Given the description of an element on the screen output the (x, y) to click on. 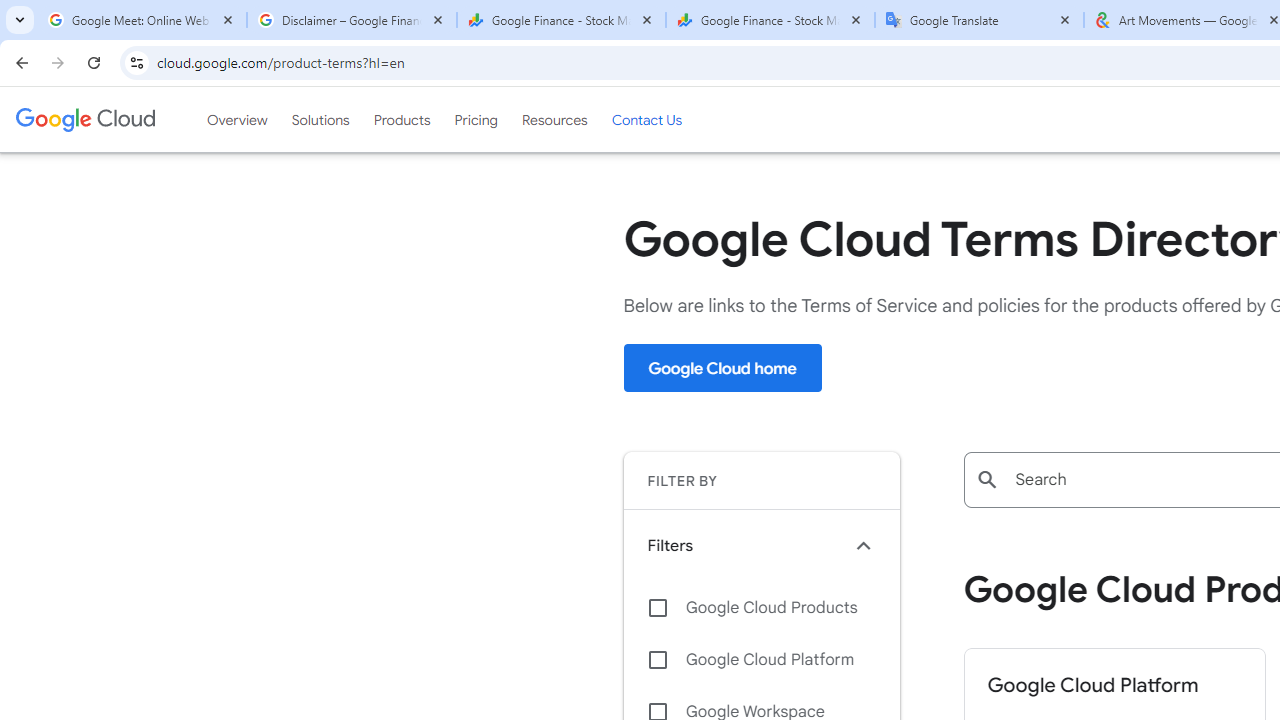
Google Cloud (84, 119)
Pricing (476, 119)
Solutions (320, 119)
Contact Us (646, 119)
Resources (553, 119)
